Given the description of an element on the screen output the (x, y) to click on. 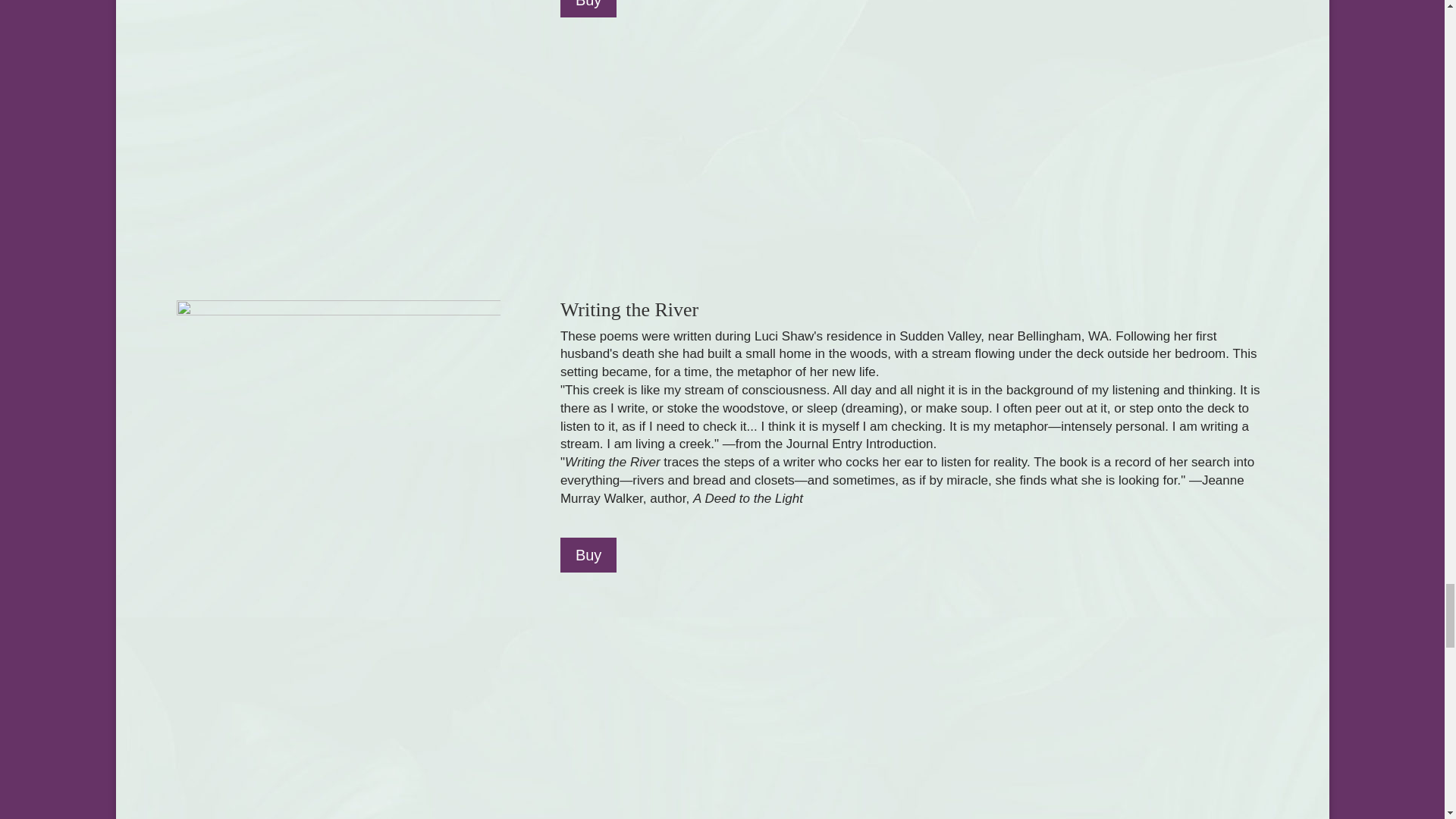
polishing-the-petoskey-stone (337, 122)
